Given the description of an element on the screen output the (x, y) to click on. 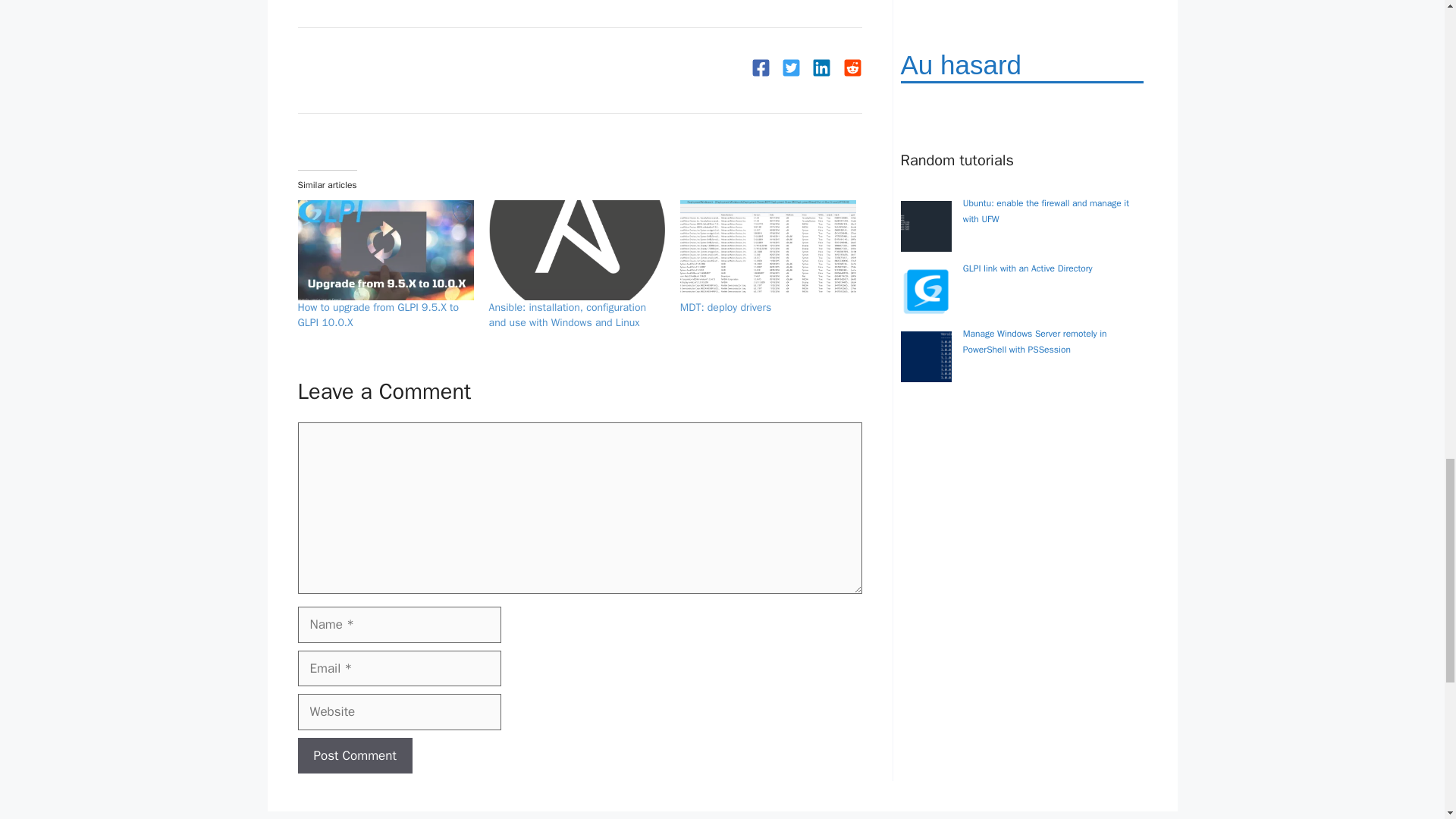
Post Comment (354, 755)
